Given the description of an element on the screen output the (x, y) to click on. 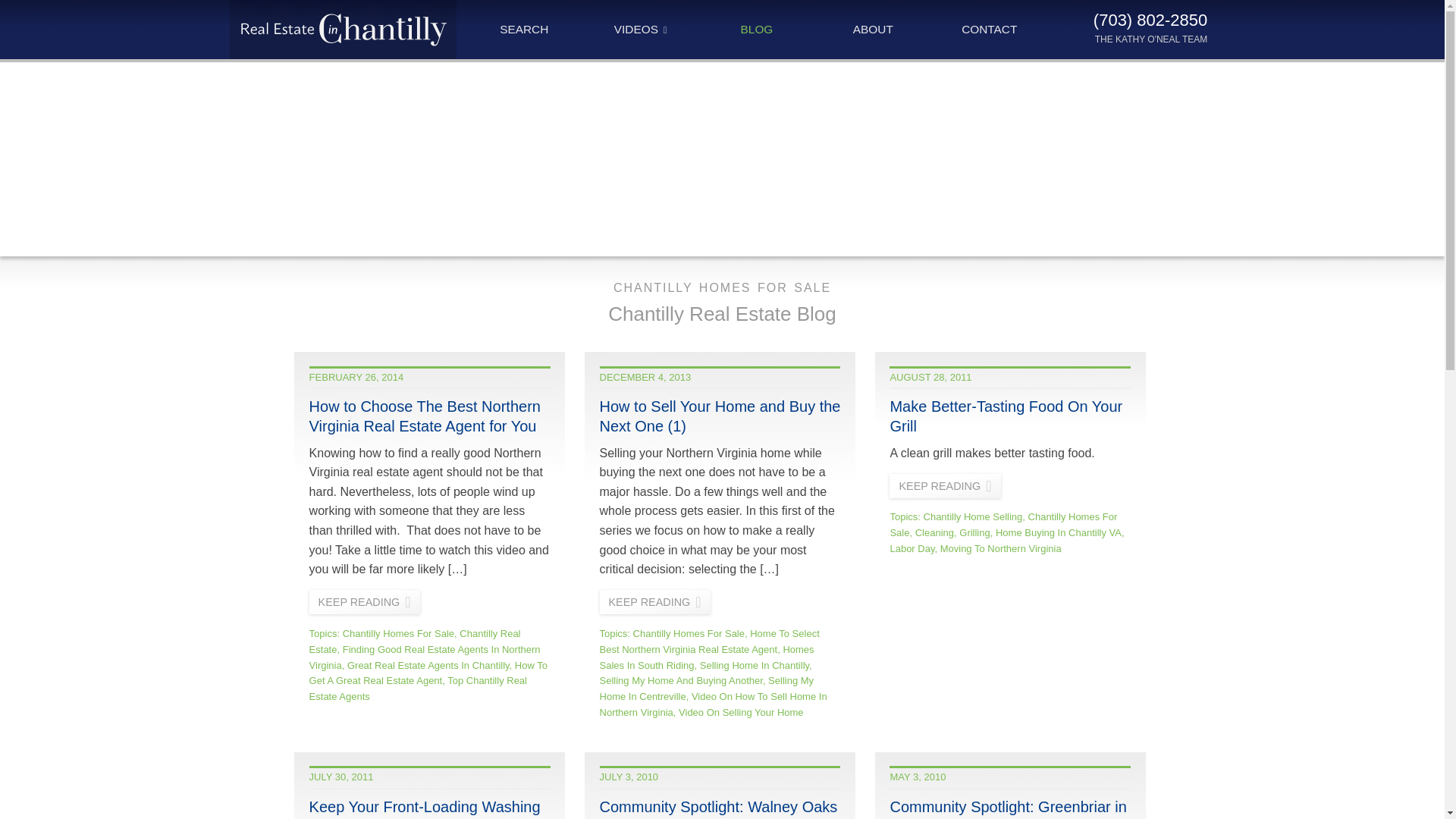
SEARCH (522, 28)
How To Get A Great Real Estate Agent (427, 673)
BLOG (755, 28)
Keep Your Front-Loading Washing Machine Fresh (424, 808)
Community Spotlight: Walney Oaks in Chantilly VA (718, 808)
Finding Good Real Estate Agents In Northern Virginia (424, 656)
ABOUT (873, 28)
Great Real Estate Agents In Chantilly (428, 665)
Top Chantilly Real Estate Agents (417, 687)
KEEP READING (364, 601)
VIDEOS (640, 29)
Chantilly Real Estate (414, 641)
Chantilly Homes For Sale (398, 633)
Make Better-Tasting Food On Your Grill (1005, 416)
